Given the description of an element on the screen output the (x, y) to click on. 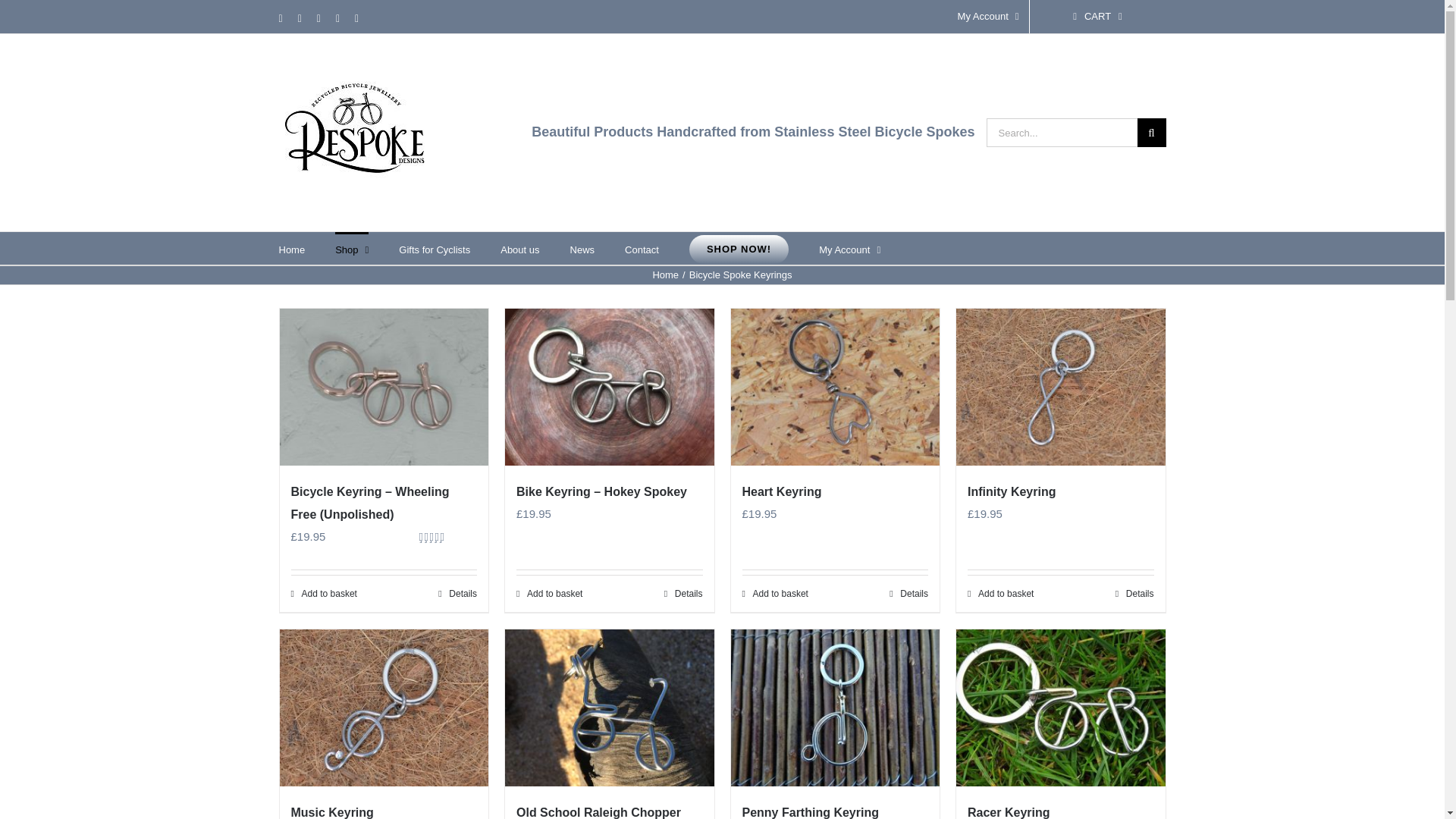
CART (1097, 16)
My Account (988, 16)
Home (292, 247)
Shop (351, 247)
